Given the description of an element on the screen output the (x, y) to click on. 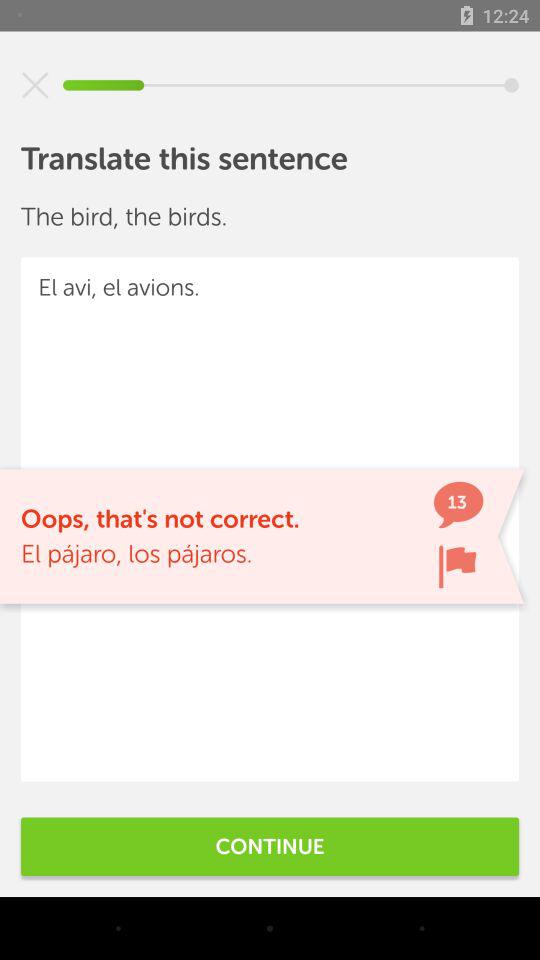
report flag (457, 566)
